Given the description of an element on the screen output the (x, y) to click on. 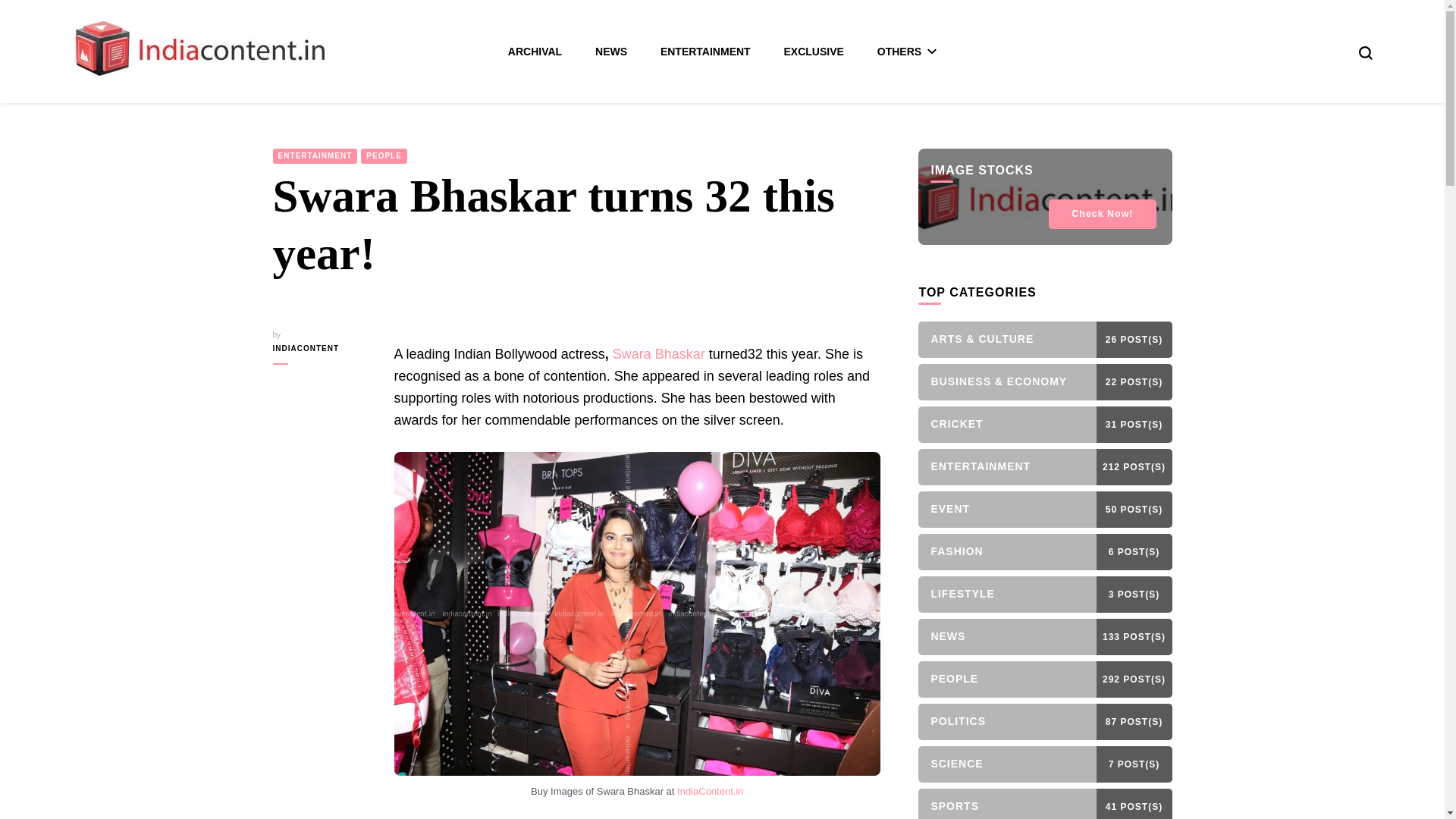
NEWS (611, 51)
ARCHIVAL (535, 51)
EXCLUSIVE (814, 51)
ENTERTAINMENT (706, 51)
OTHERS (906, 51)
